Given the description of an element on the screen output the (x, y) to click on. 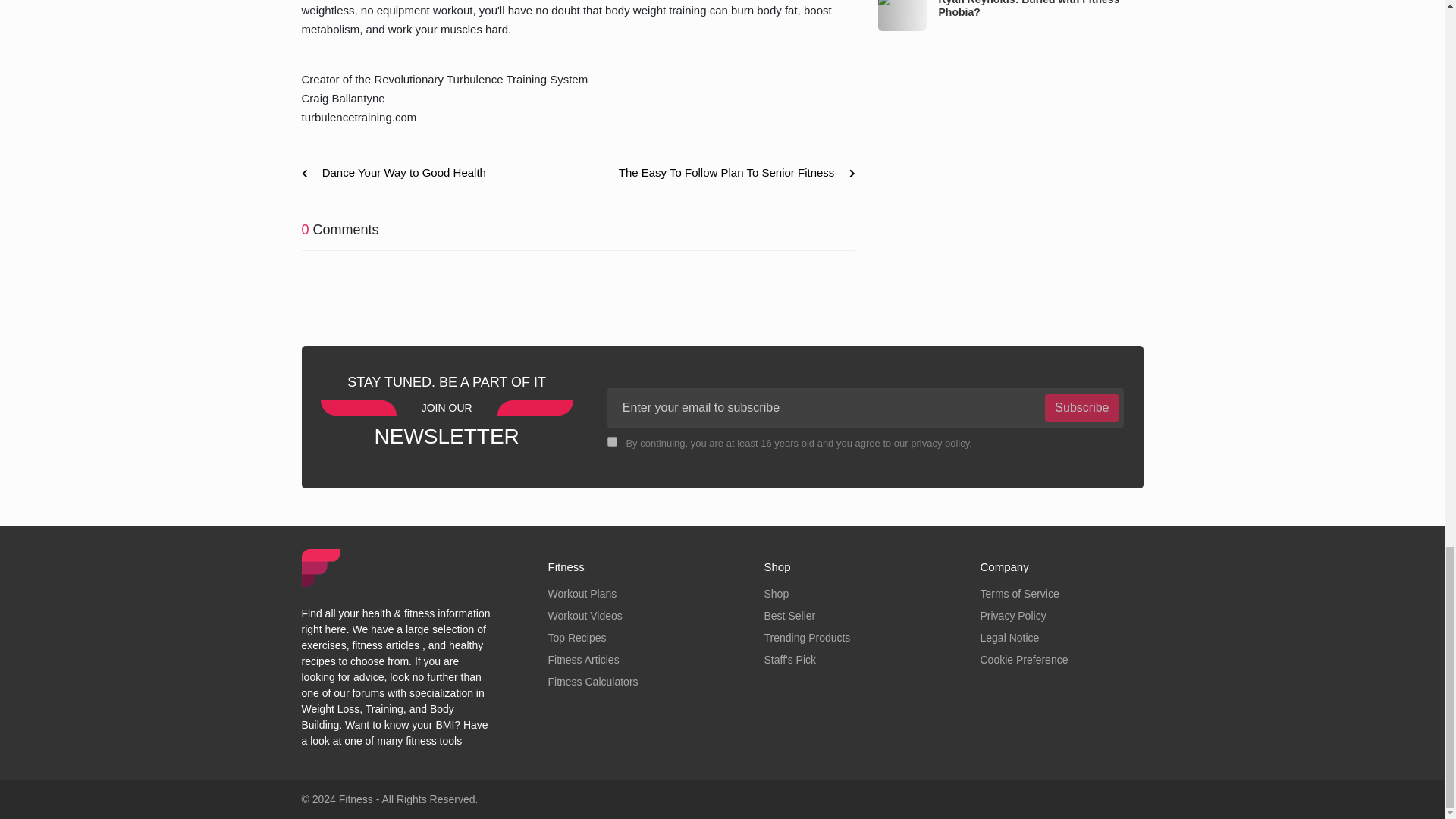
on (612, 441)
Dance Your Way to Good Health (399, 172)
The Easy To Follow Plan To Senior Fitness (731, 172)
Ryan Reynolds:  Buried with Fitness Phobia? (901, 15)
